Given the description of an element on the screen output the (x, y) to click on. 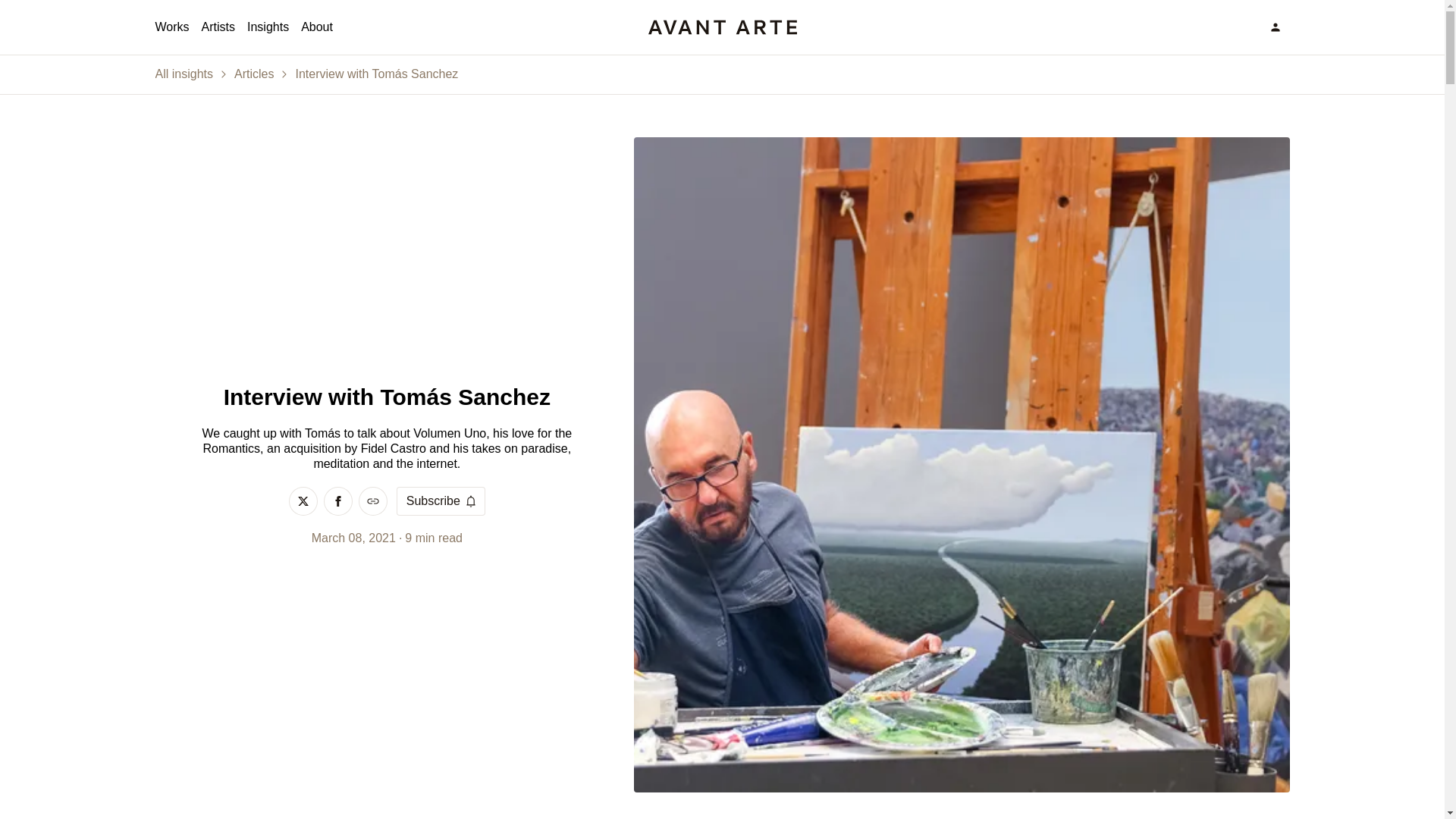
Subscribe (440, 500)
Articles (253, 73)
About (317, 27)
All insights (183, 73)
Works (171, 27)
Artists (218, 27)
Insights (267, 27)
